Given the description of an element on the screen output the (x, y) to click on. 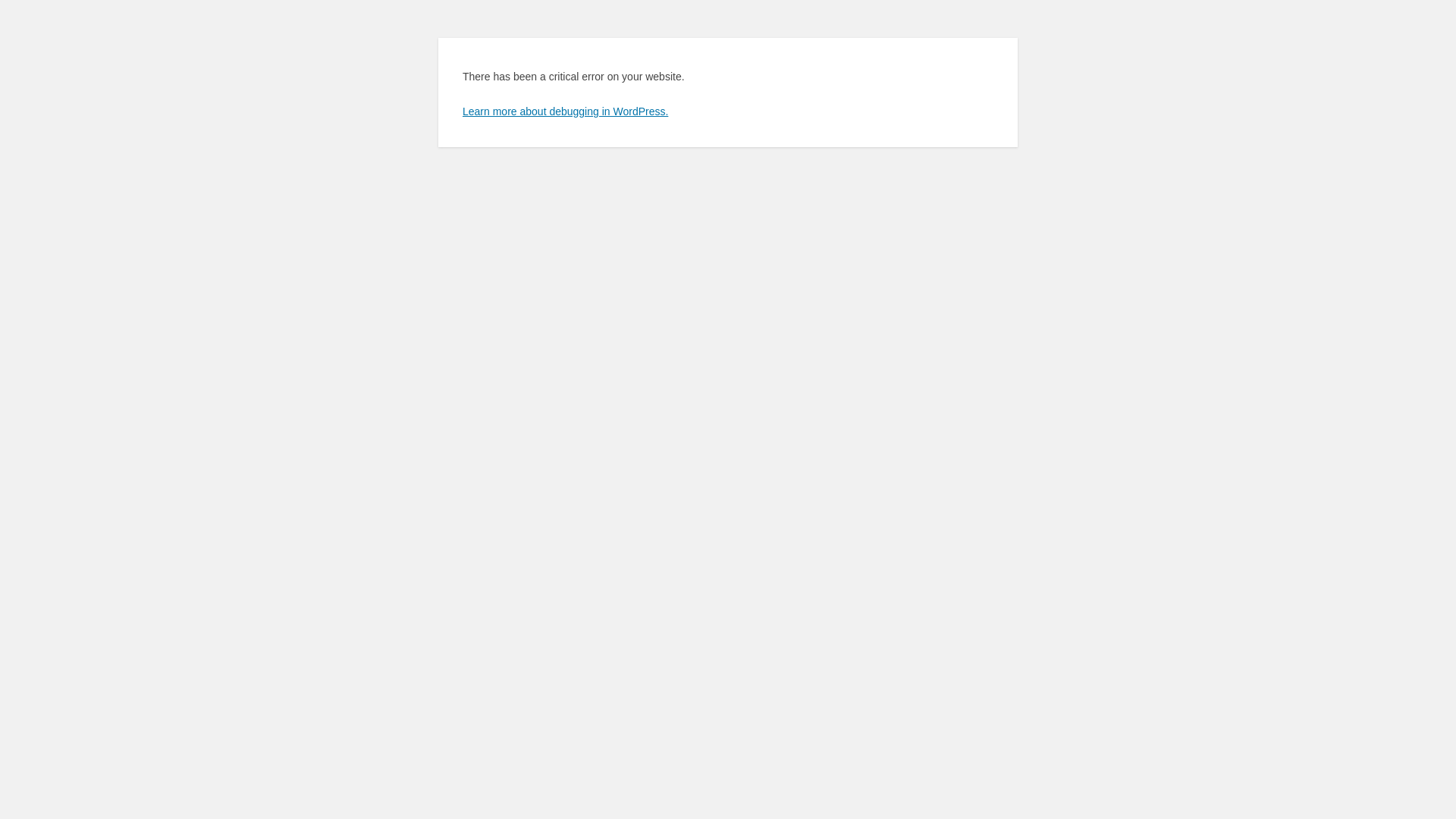
Learn more about debugging in WordPress. Element type: text (565, 111)
